Given the description of an element on the screen output the (x, y) to click on. 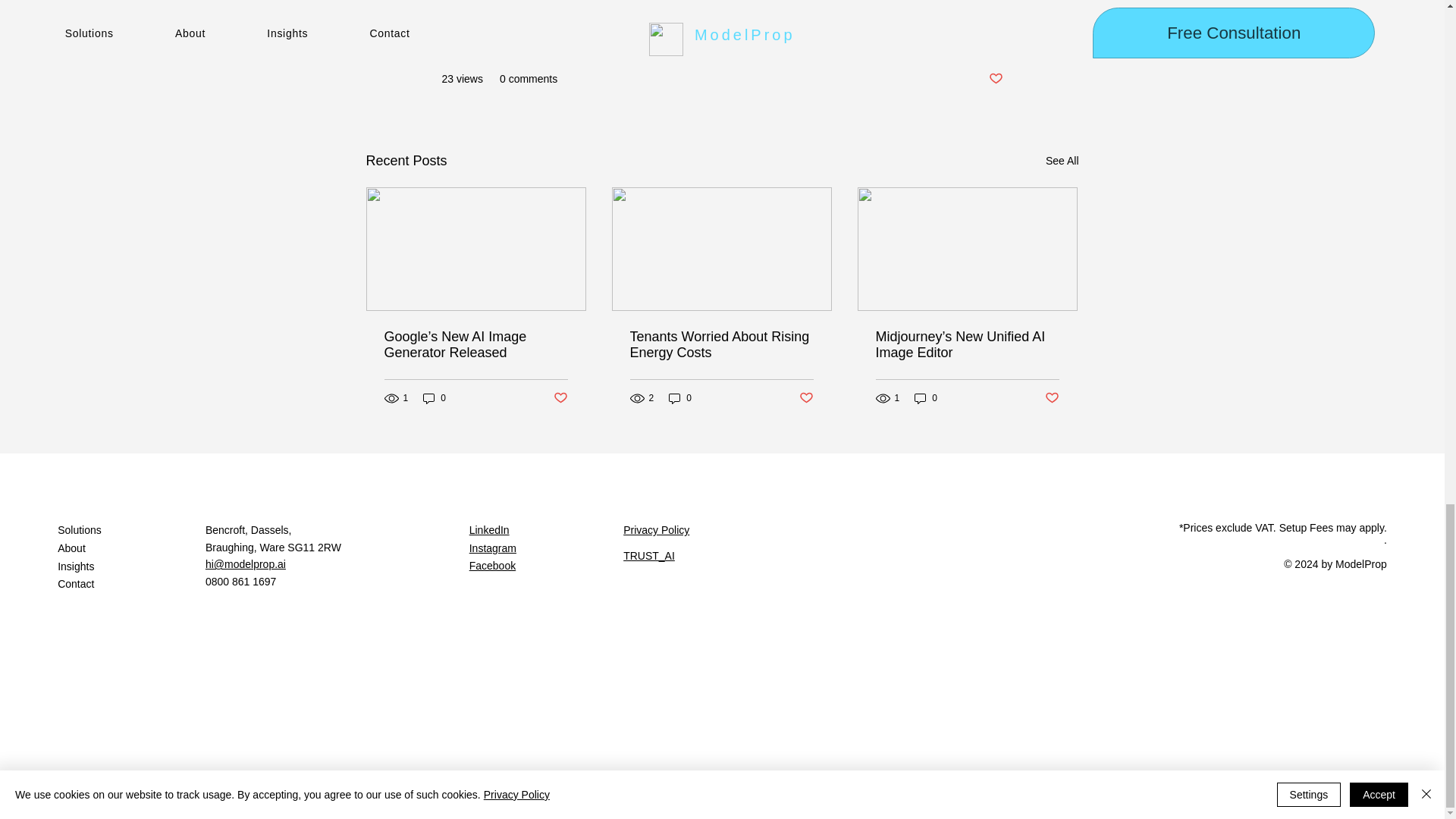
See All (1061, 160)
0 (434, 398)
Solutions (131, 530)
Tenants Worried About Rising Energy Costs (720, 345)
LinkedIn (488, 530)
Post not marked as liked (995, 78)
Post not marked as liked (1052, 398)
Post not marked as liked (806, 398)
0 (679, 398)
Facebook (491, 565)
